Given the description of an element on the screen output the (x, y) to click on. 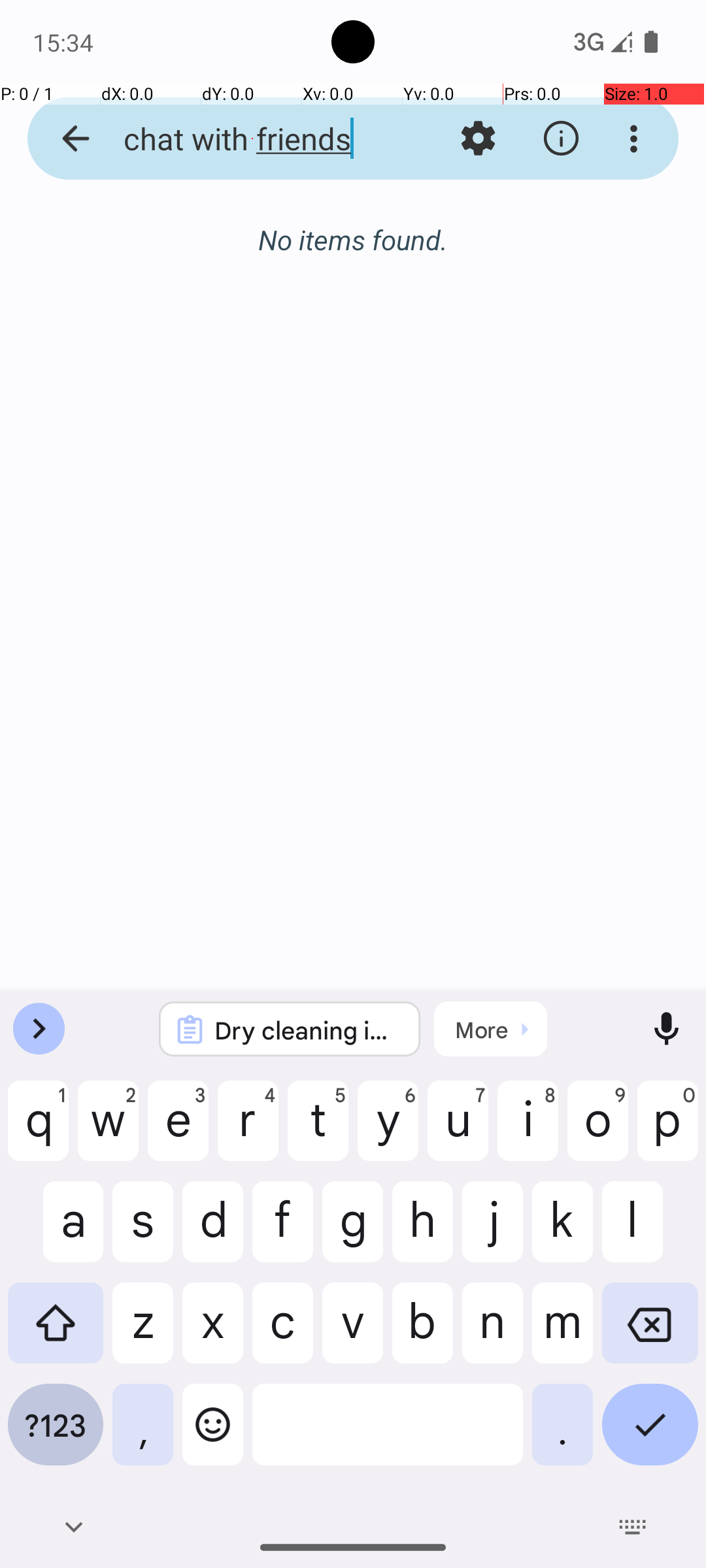
chat with friends Element type: android.widget.EditText (252, 138)
No stored conversations have been found Element type: android.widget.TextView (353, 246)
Start a conversation Element type: android.widget.TextView (352, 311)
